Given the description of an element on the screen output the (x, y) to click on. 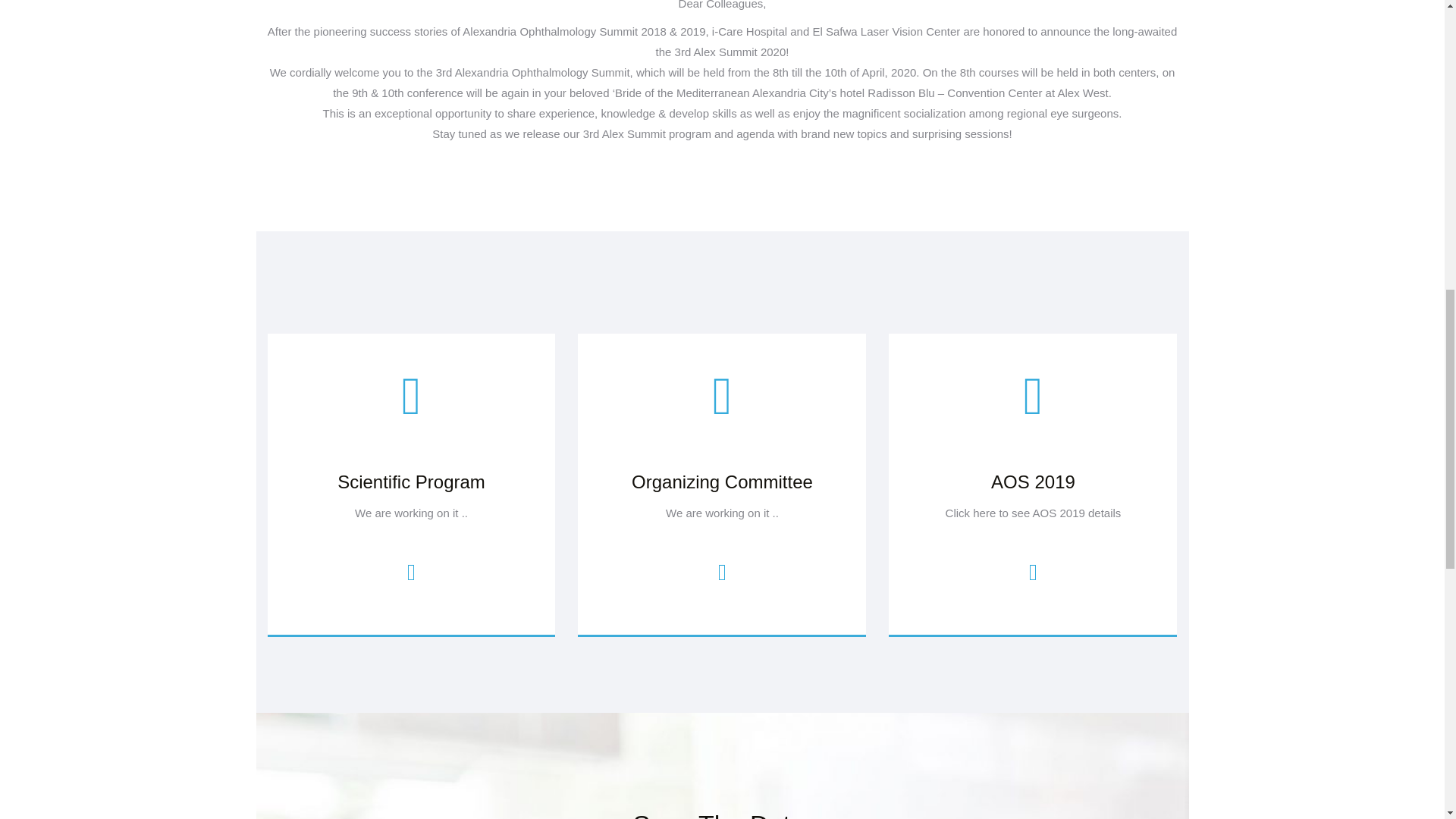
Organizing Committee (721, 481)
AOS 2019 (1032, 395)
AOS 2019 (1033, 481)
AOS 2019 (1032, 572)
aos-2019 (1033, 481)
Scientific Program (410, 481)
